Given the description of an element on the screen output the (x, y) to click on. 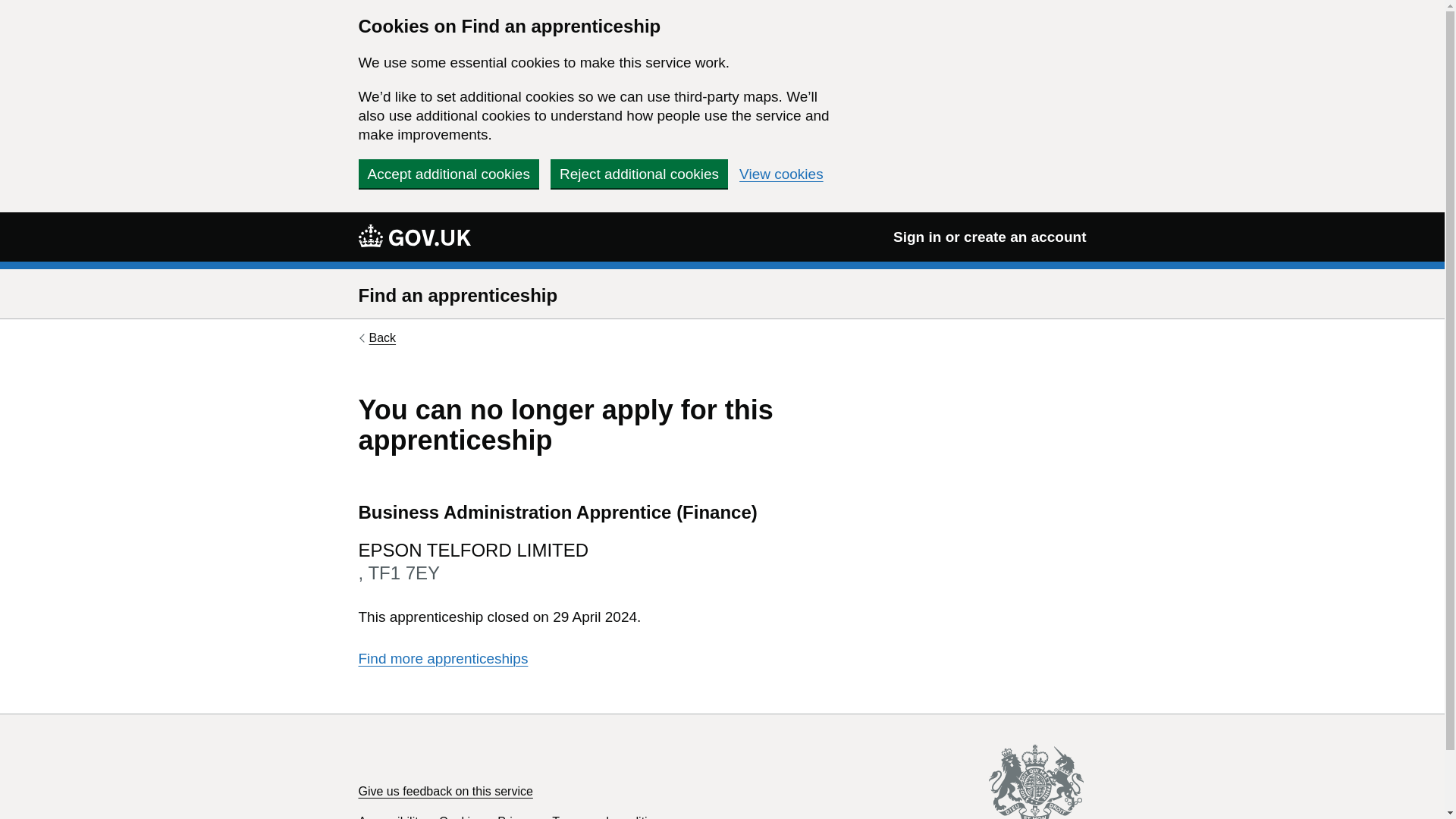
Terms and conditions (608, 816)
Accessibility (390, 816)
GOV.UK (414, 235)
Back (377, 337)
Skip to main content (11, 7)
Find more apprenticeships (442, 658)
Give us feedback on this service (445, 790)
Cookies (461, 816)
View cookies (781, 173)
Reject additional cookies (639, 173)
GOV.UK (414, 235)
Privacy (517, 816)
Sign in or create an account (989, 236)
Accept additional cookies (448, 173)
